Given the description of an element on the screen output the (x, y) to click on. 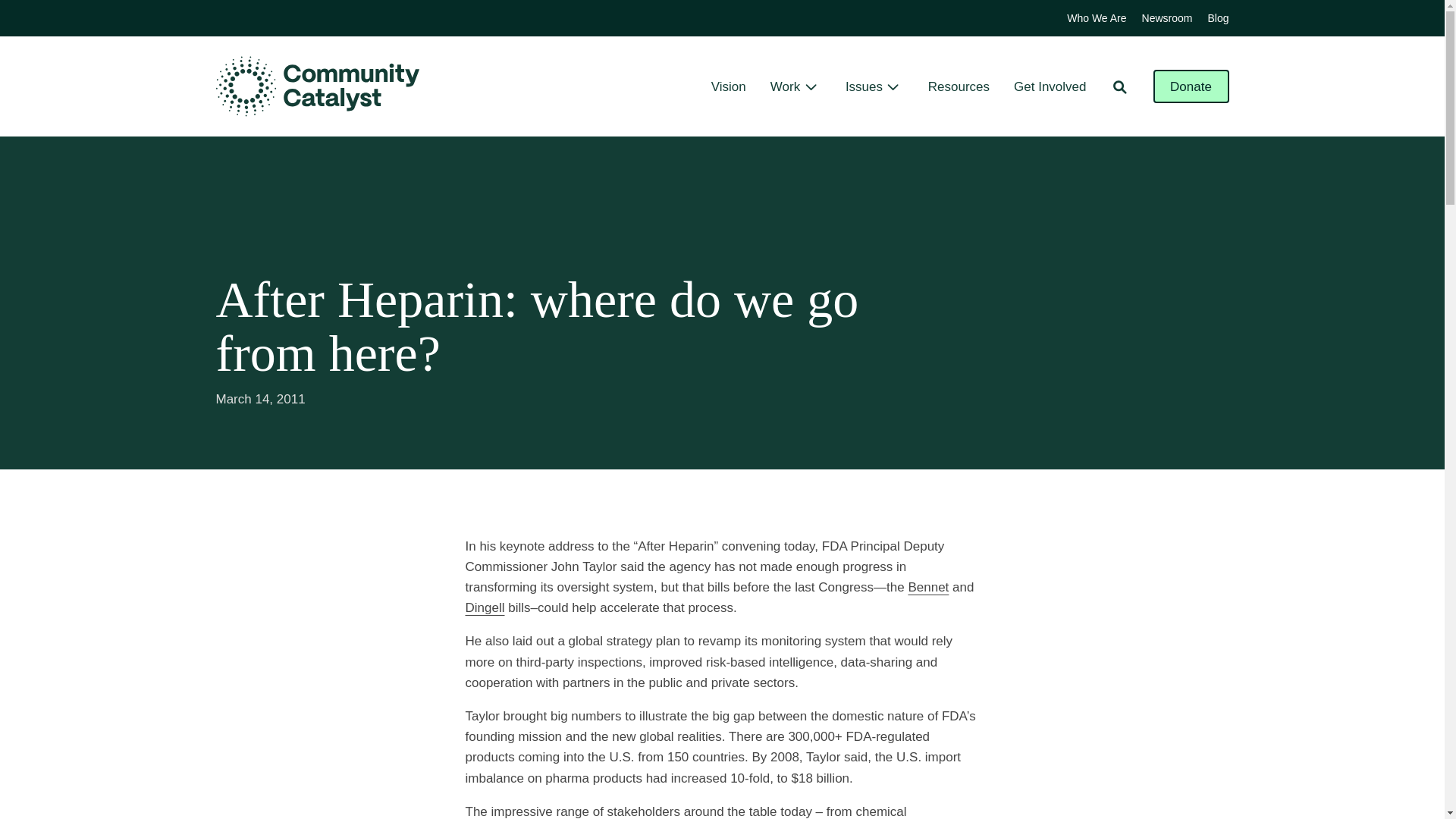
Resources (959, 86)
Community Catalyst (317, 86)
Get Involved (1049, 86)
Issues (863, 86)
Search (1118, 86)
Donate (1190, 86)
Vision (728, 86)
Work (784, 86)
